Given the description of an element on the screen output the (x, y) to click on. 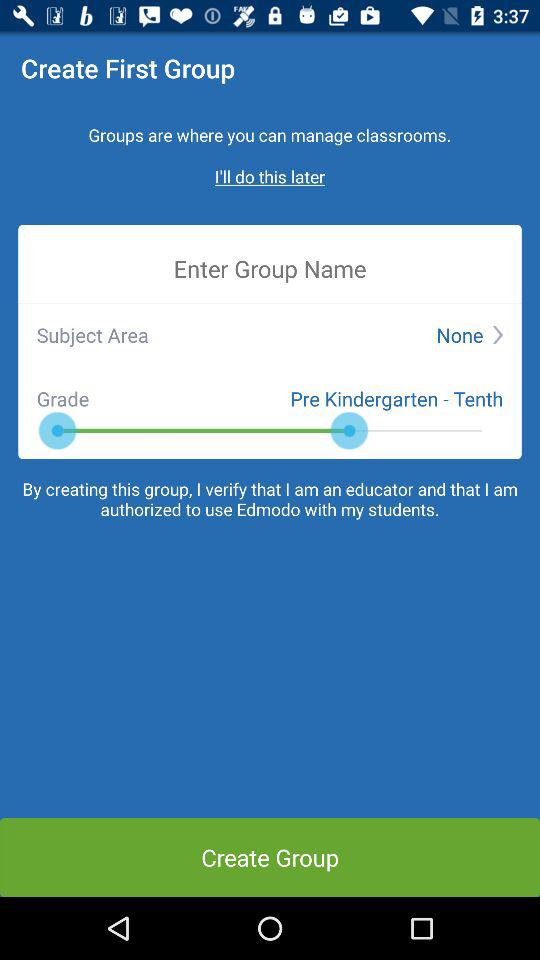
click on the ill do this later (269, 176)
click on group name field (269, 268)
